Given the description of an element on the screen output the (x, y) to click on. 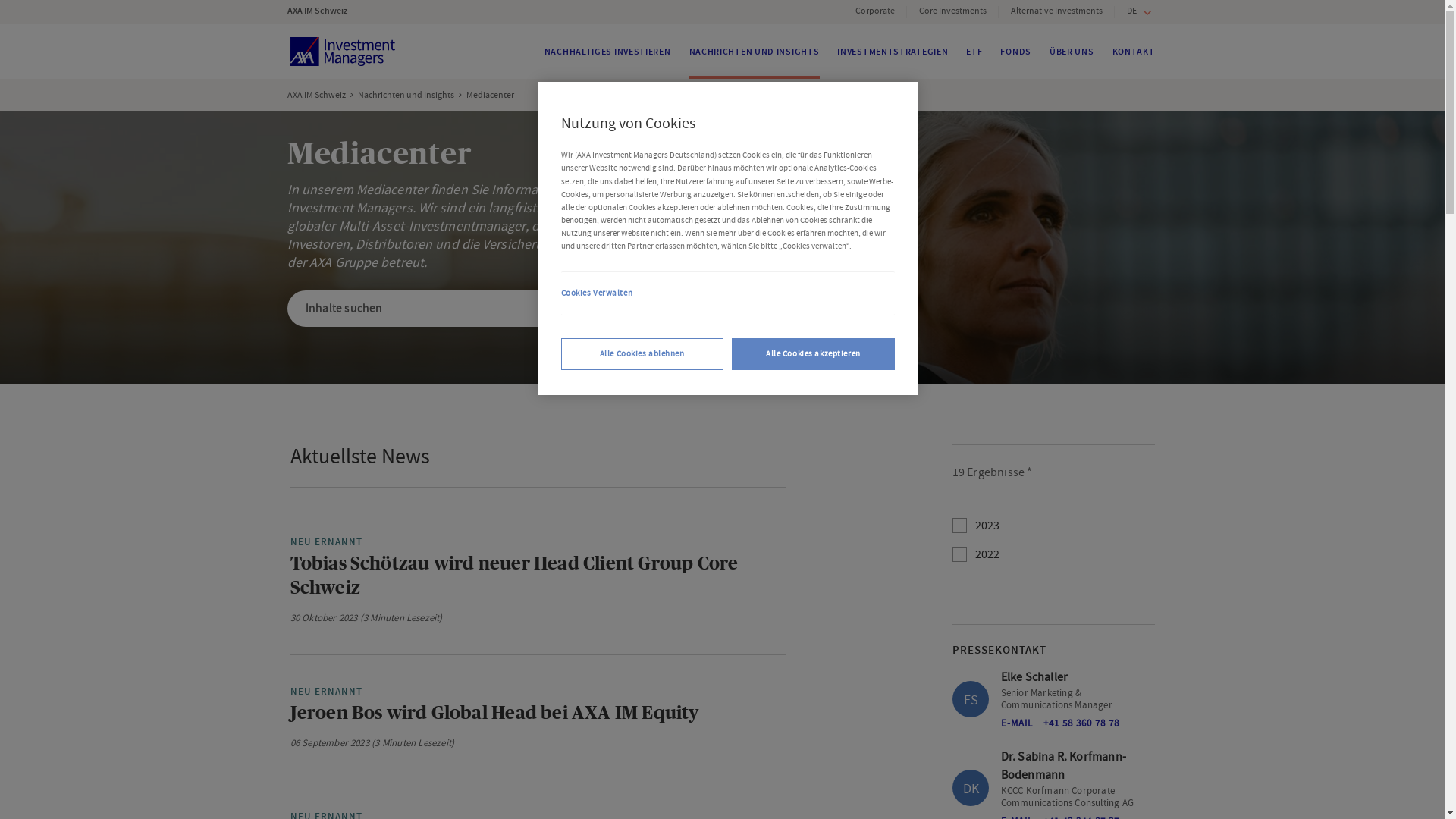
INVESTMENTSTRATEGIEN Element type: text (892, 51)
DE Element type: text (1137, 12)
Alle Cookies akzeptieren Element type: text (812, 354)
Nachrichten und Insights Element type: text (405, 94)
FONDS Element type: text (1015, 51)
Core Investments Element type: text (952, 12)
Alternative Investments Element type: text (1056, 12)
AXA IM Schweiz Element type: text (324, 11)
Corporate Element type: text (874, 12)
+41 58 360 78 78 Element type: text (1081, 722)
E-MAIL Element type: text (1016, 722)
Jeroen Bos wird Global Head bei AXA IM Equity Element type: text (493, 714)
Home Element type: hover (342, 51)
ETF Element type: text (974, 51)
NACHRICHTEN UND INSIGHTS Element type: text (754, 51)
Alle Cookies ablehnen Element type: text (642, 354)
KONTAKT Element type: text (1133, 51)
Cookies Verwalten Element type: text (727, 293)
AXA IM Schweiz Element type: text (316, 94)
NACHHALTIGES INVESTIEREN Element type: text (607, 51)
